Given the description of an element on the screen output the (x, y) to click on. 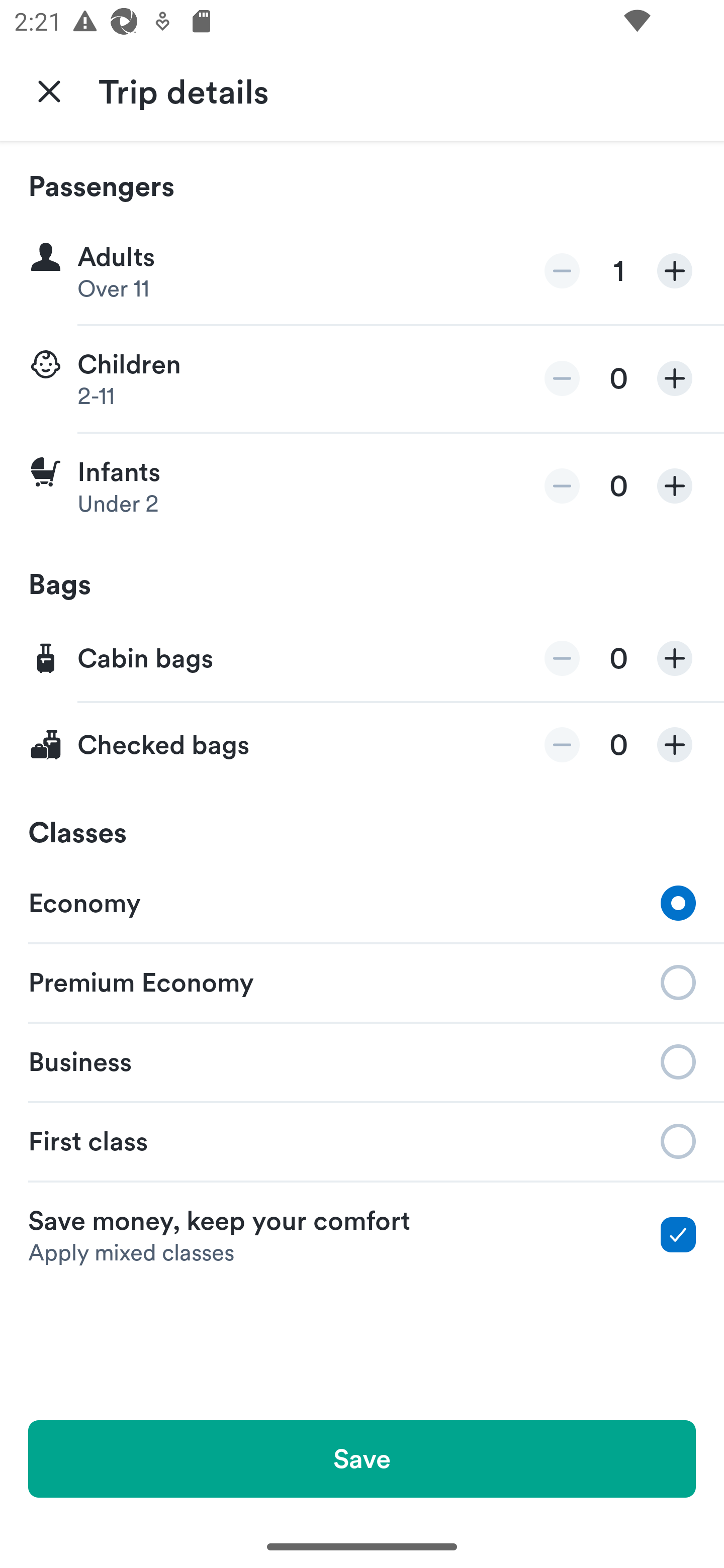
Navigate up (49, 90)
Remove 1 Add Adults Over 11 (362, 271)
Remove (561, 270)
Add (674, 270)
Remove 0 Add Children 2-11 (362, 379)
Remove (561, 377)
Add (674, 377)
Remove 0 Add Infants Under 2 (362, 485)
Remove (561, 485)
Add (674, 485)
Remove 0 Add Cabin bags (362, 659)
Remove (561, 658)
Add (674, 658)
Remove 0 Add Checked bags (362, 744)
Remove (561, 744)
Add (674, 744)
Premium Economy (362, 980)
Business (362, 1060)
First class (362, 1141)
Save (361, 1458)
